Given the description of an element on the screen output the (x, y) to click on. 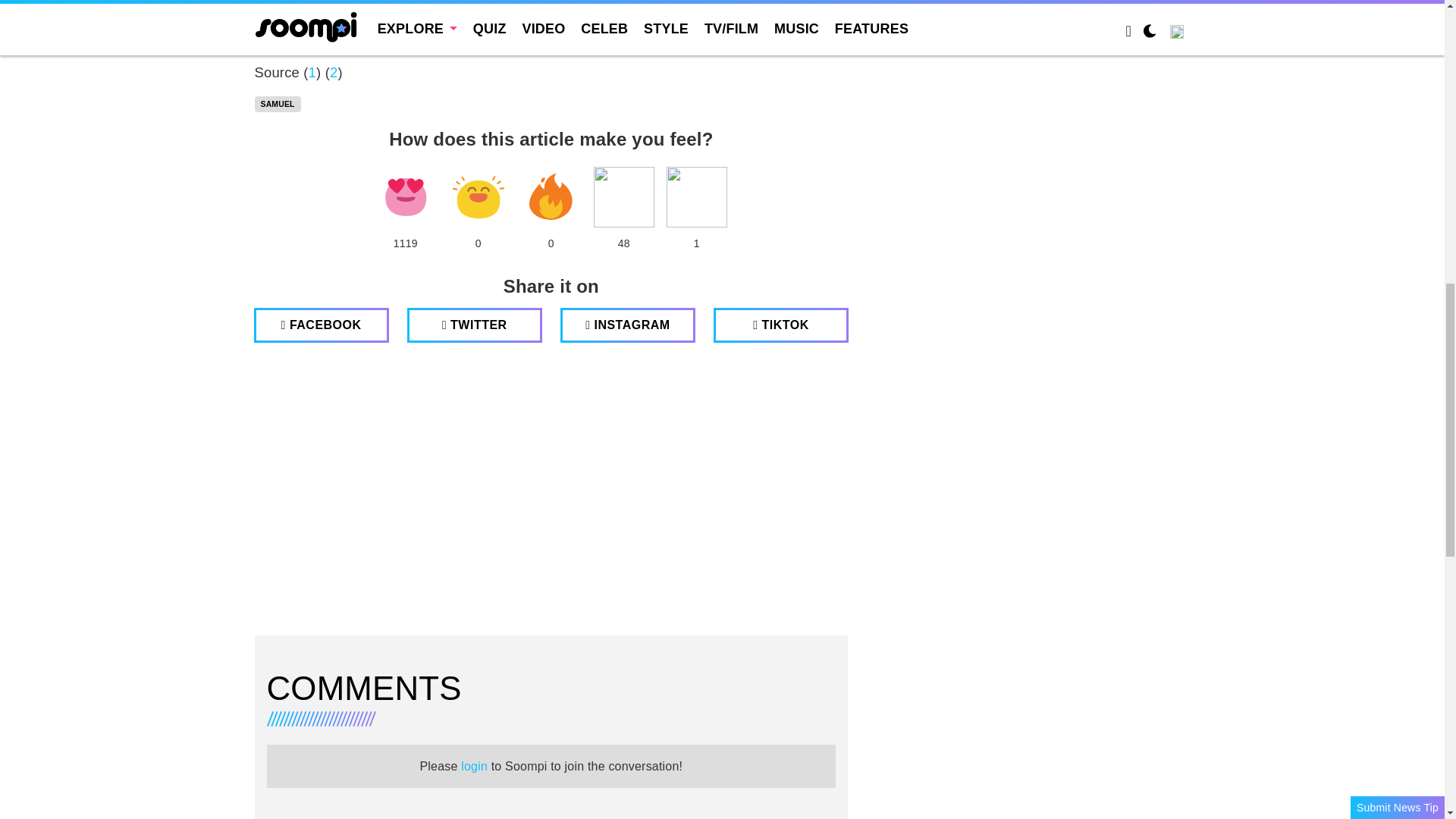
Heart (405, 197)
lol (478, 197)
Crying (623, 197)
heart (405, 197)
omg (696, 197)
cry (623, 197)
OMG (696, 197)
fire (550, 197)
LOL (478, 197)
Fire (550, 197)
SAMUEL (277, 104)
FACEBOOK (320, 325)
Samuel (277, 104)
TWITTER (474, 325)
